Given the description of an element on the screen output the (x, y) to click on. 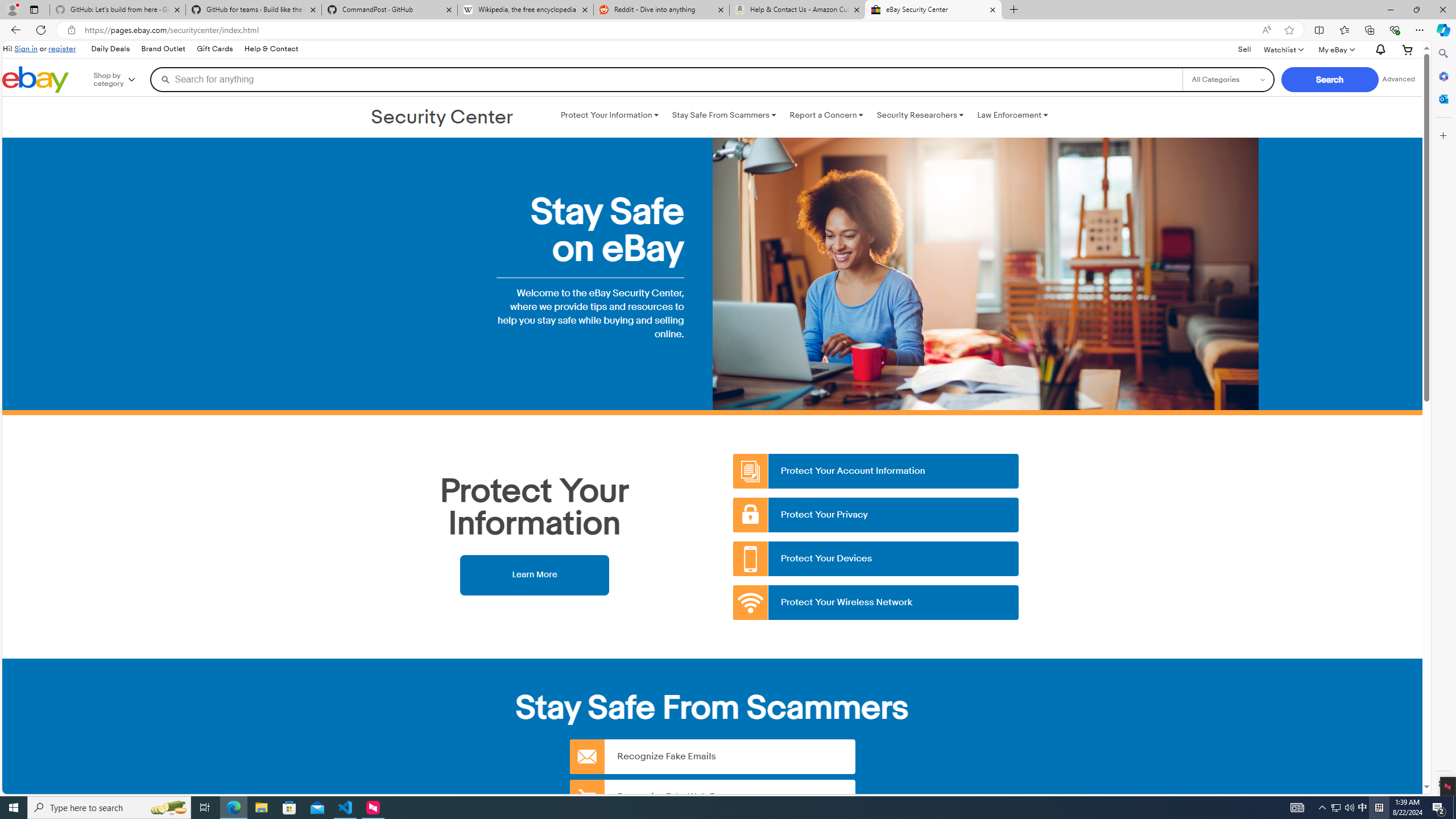
Law Enforcement  (1012, 115)
register (61, 48)
Protect Your Devices (876, 558)
Notifications (1377, 49)
Recognize Fake Emails (712, 756)
Help & Contact (271, 49)
Sell (1244, 49)
Protect Your Account Information (876, 470)
Help & Contact Us - Amazon Customer Service - Sleeping (797, 9)
Your shopping cart (1407, 49)
Sign in (25, 48)
